Given the description of an element on the screen output the (x, y) to click on. 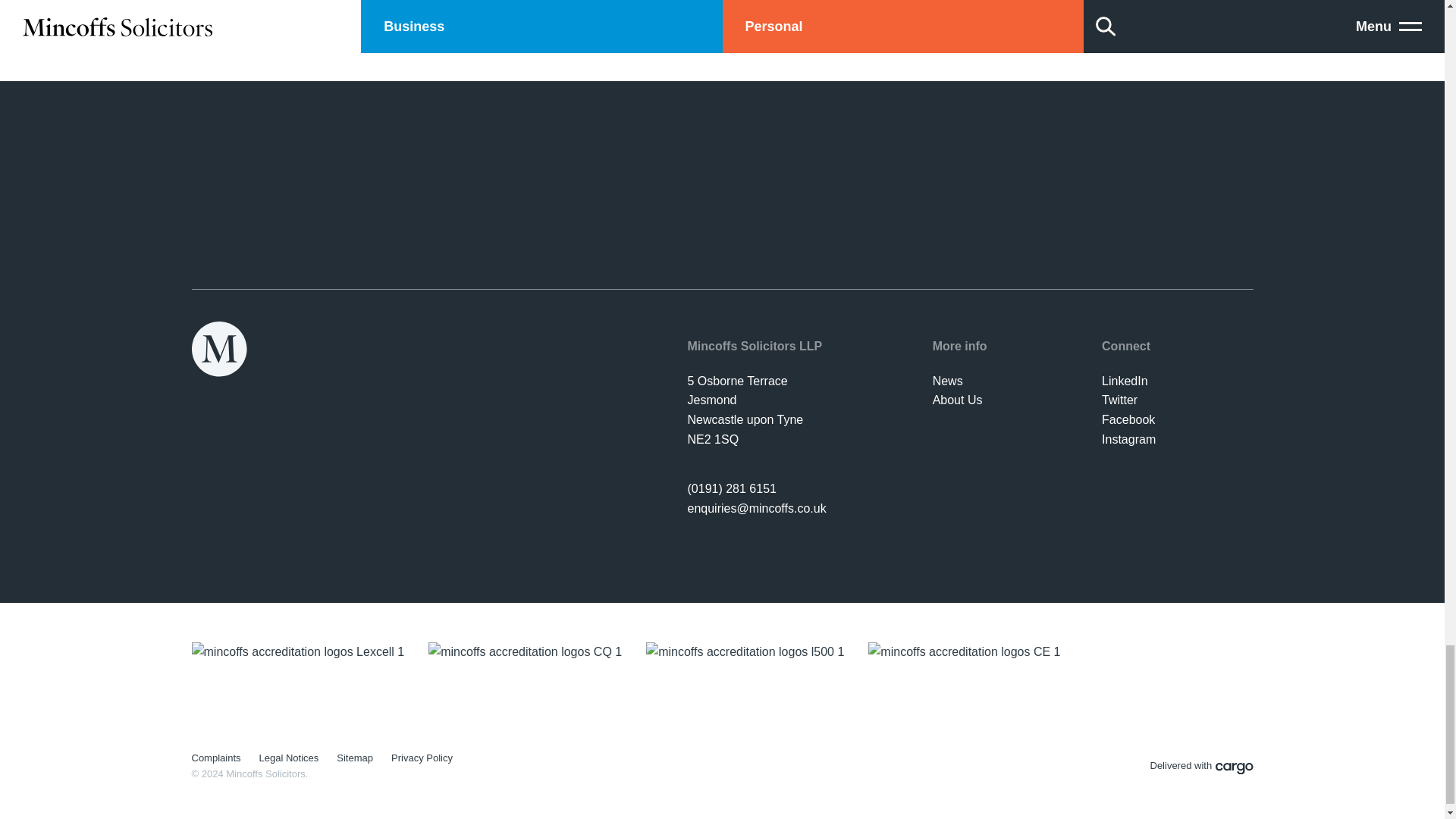
Follow Mincoffs Solicitors on Instagram (1129, 439)
Connect with Mincoffs Solicitors on LinkedIn (1125, 380)
Like Mincoffs Solicitors on Facebook (1128, 419)
Follow Mincoffs Solicitors on Twitter (1119, 399)
